Given the description of an element on the screen output the (x, y) to click on. 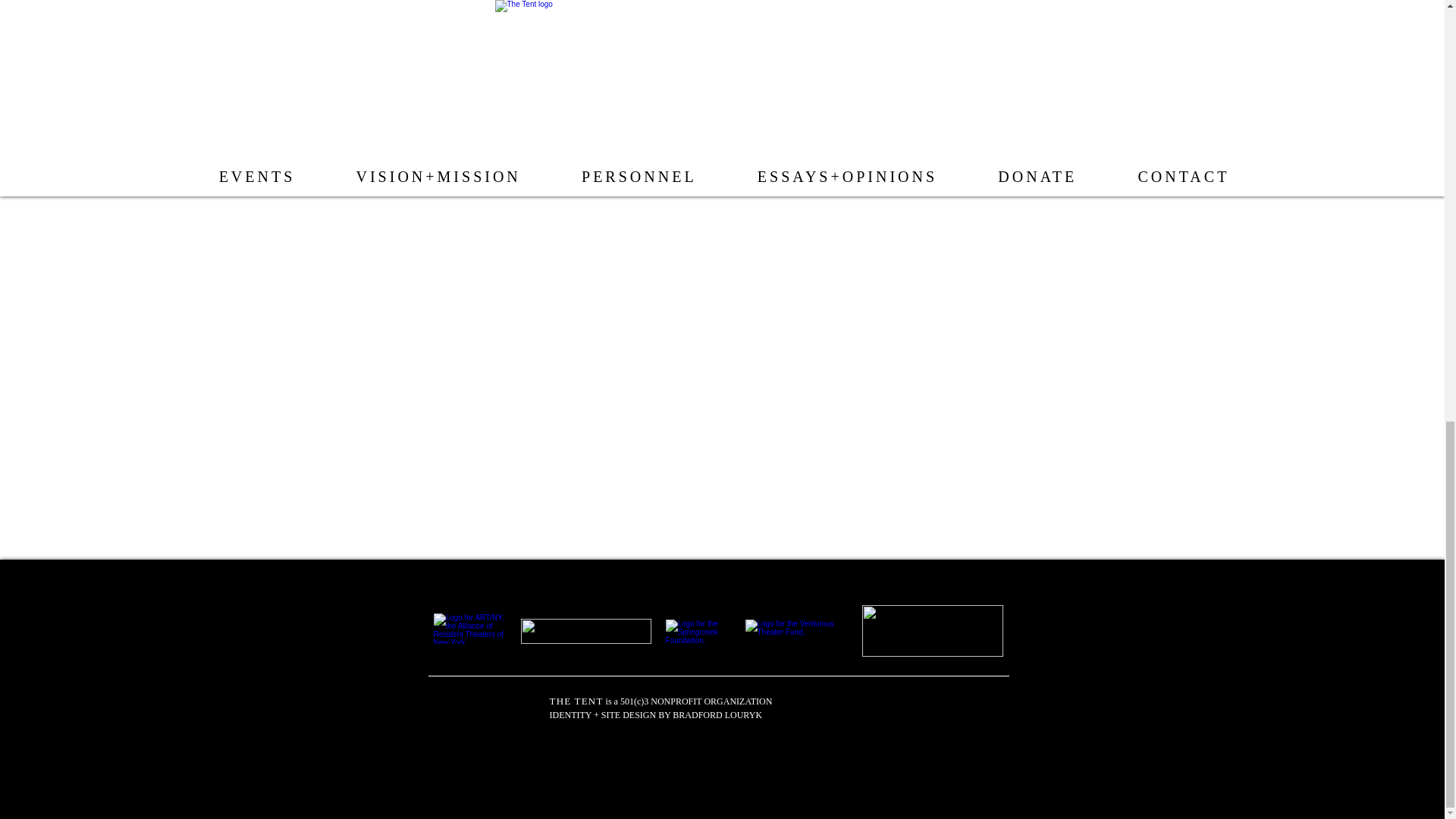
Chan2.png (1090, 5)
BRADFORD LOURYK (716, 715)
Chan1.png (272, 20)
ForgeLogoBgrd.png (584, 631)
